Given the description of an element on the screen output the (x, y) to click on. 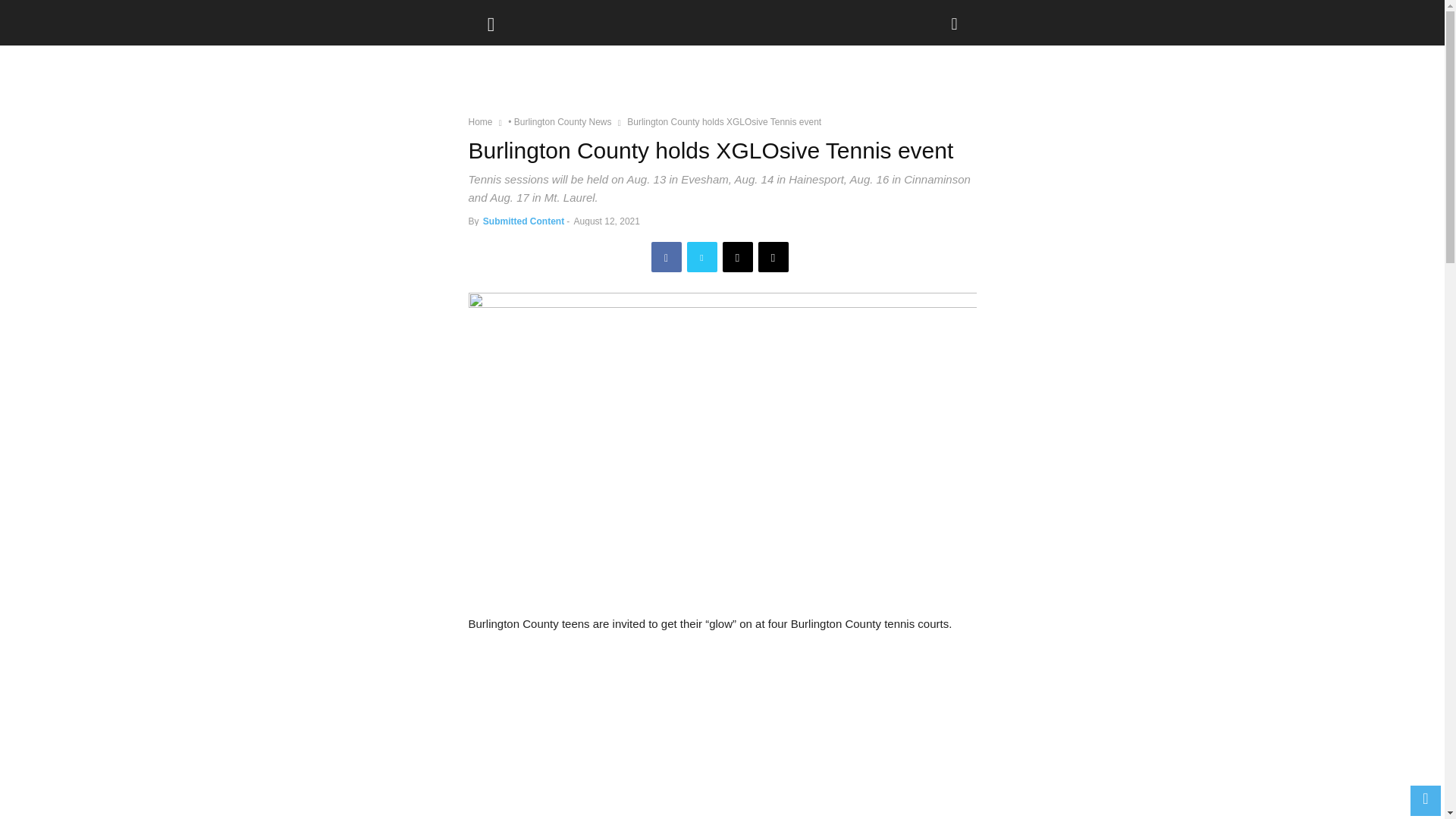
Twitter (702, 256)
Submitted Content (523, 221)
Print (773, 256)
Home (480, 122)
Email (737, 256)
Facebook (665, 256)
